Given the description of an element on the screen output the (x, y) to click on. 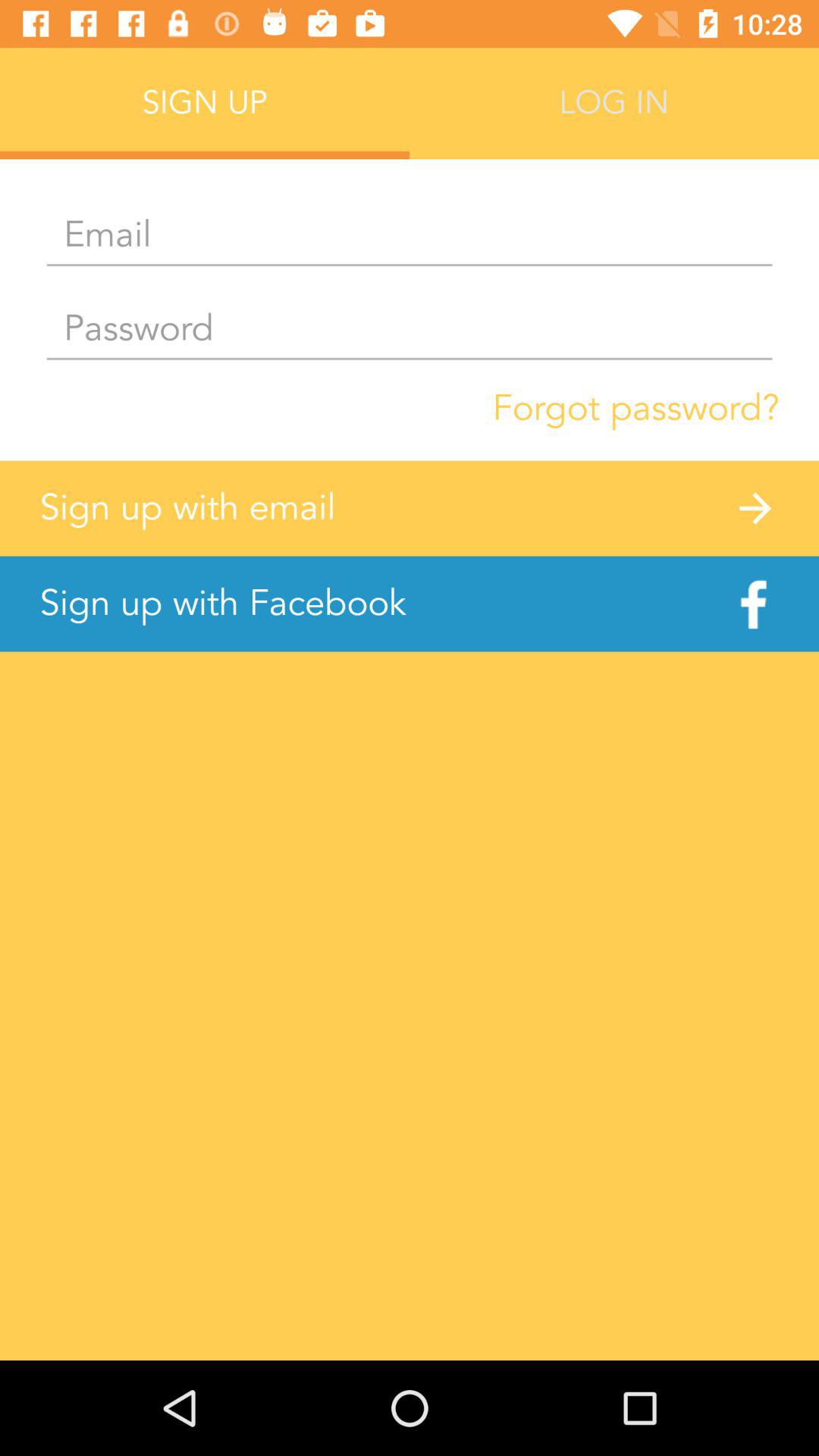
enter password (409, 329)
